Given the description of an element on the screen output the (x, y) to click on. 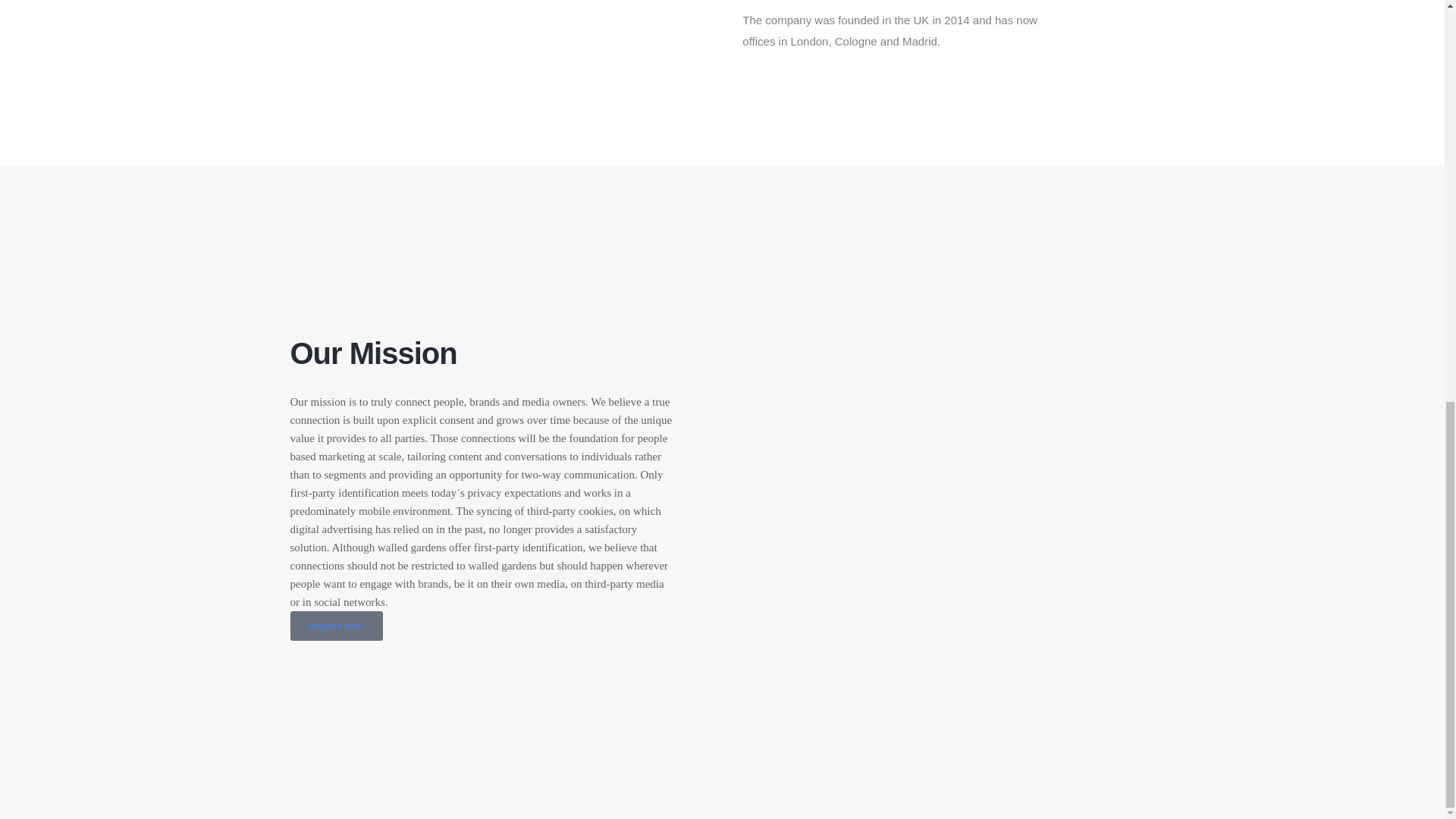
A person pointing at a computer screen (517, 7)
